Given the description of an element on the screen output the (x, y) to click on. 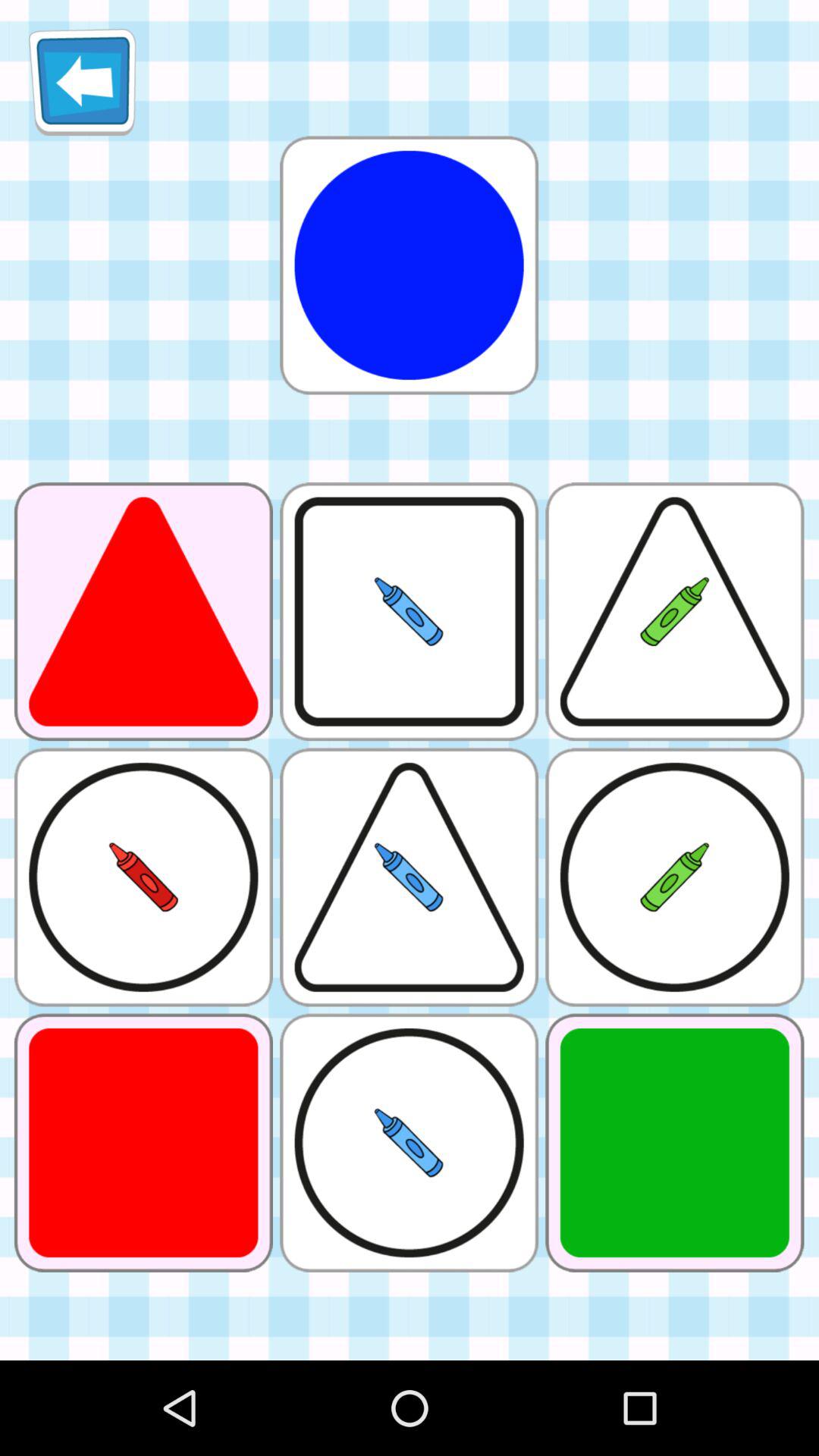
blue circle (409, 265)
